Given the description of an element on the screen output the (x, y) to click on. 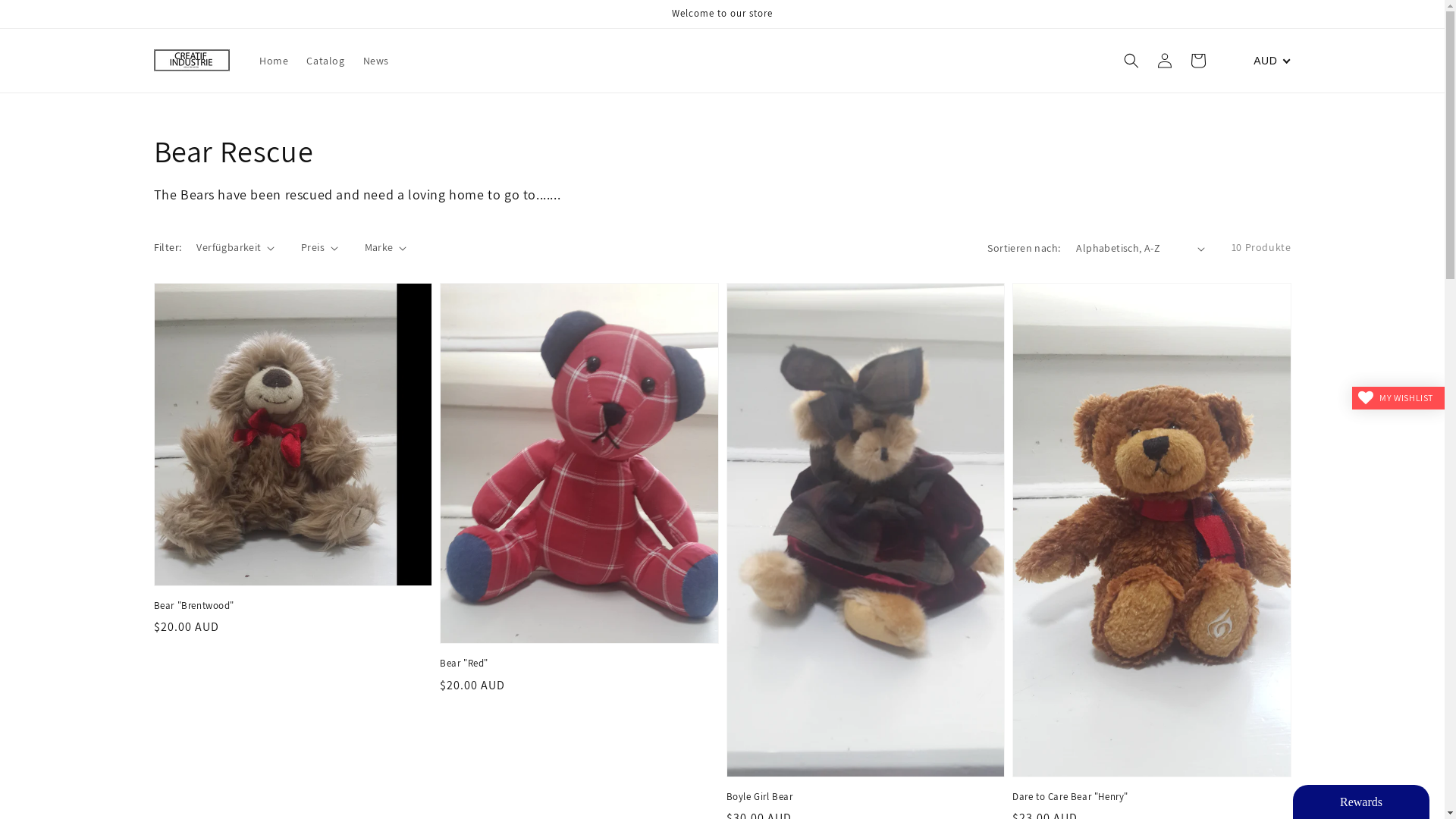
Bear "Brentwood" Element type: text (288, 605)
News Element type: text (376, 60)
Bear "Red" Element type: text (574, 663)
MY WISHLIST Element type: text (1398, 397)
Home Element type: text (273, 60)
Boyle Girl Bear Element type: text (861, 796)
Einloggen Element type: text (1249, 60)
Warenkorb Element type: text (1282, 60)
Catalog Element type: text (325, 60)
Dare to Care Bear "Henry" Element type: text (1147, 796)
